Given the description of an element on the screen output the (x, y) to click on. 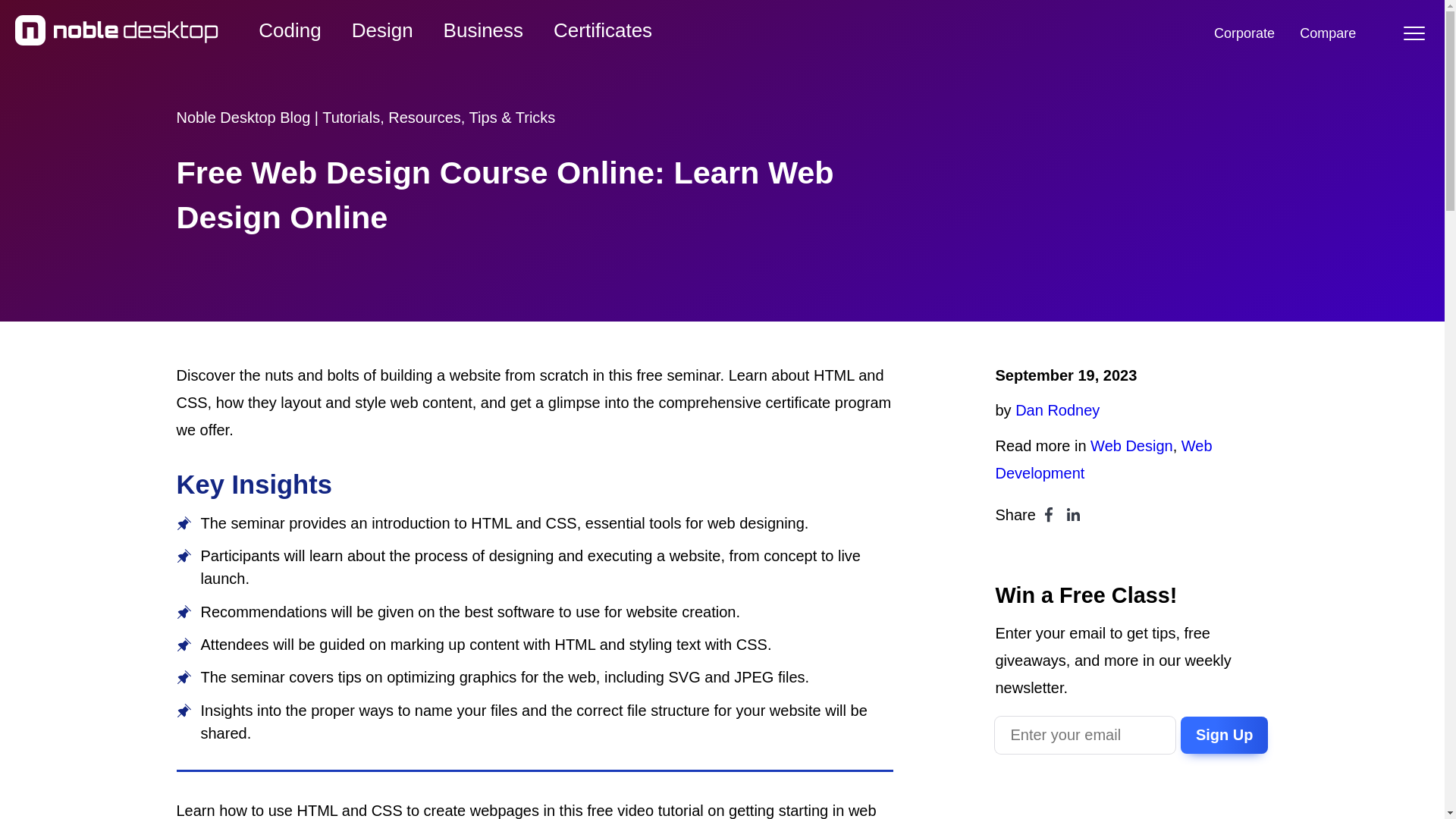
Design (382, 30)
Sign Up (1224, 735)
Coding (289, 30)
Business (483, 30)
Share on LinkedIn (1073, 513)
